Given the description of an element on the screen output the (x, y) to click on. 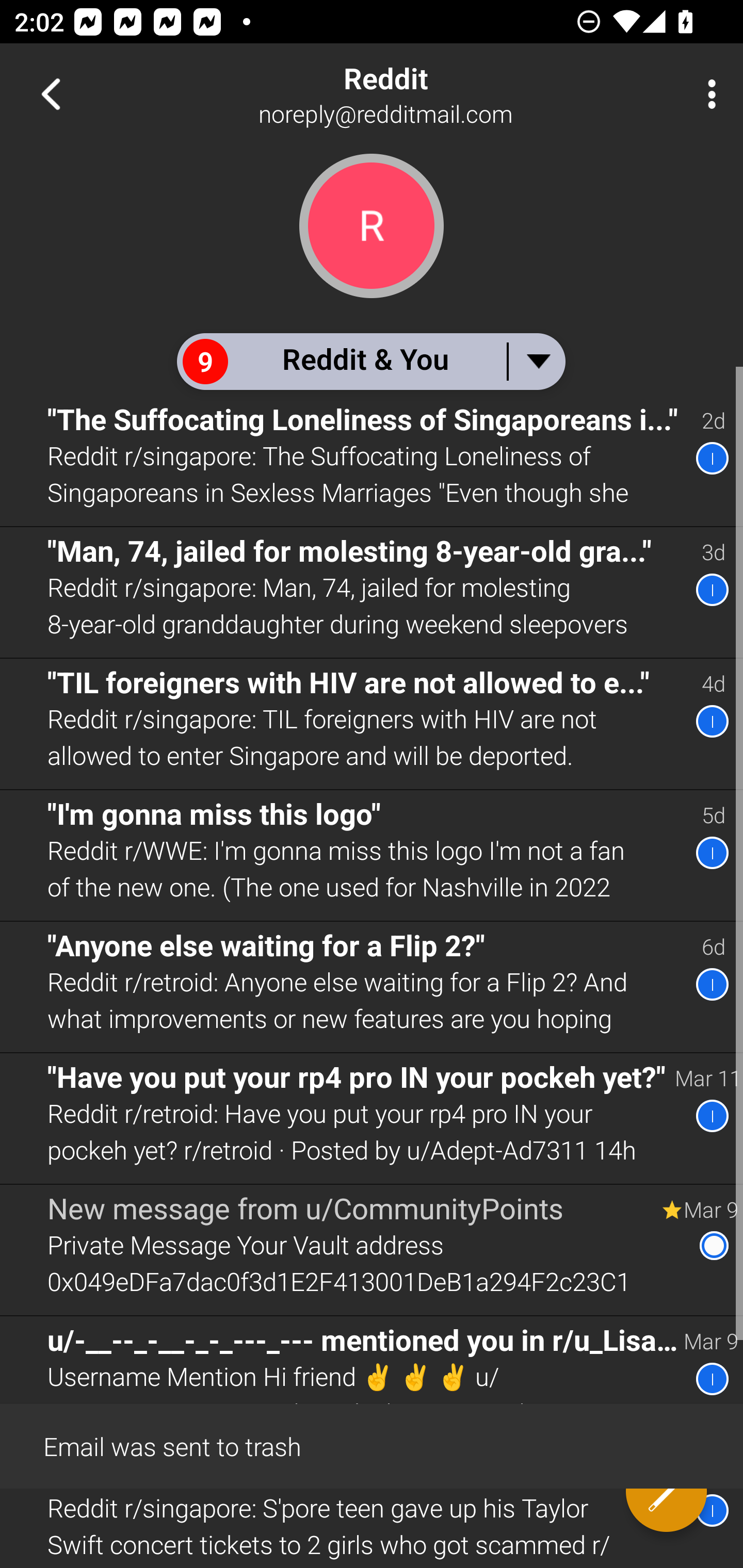
Navigate up (50, 93)
Reddit noreply@redditmail.com (436, 93)
More Options (706, 93)
9 Reddit & You (370, 361)
Email was sent to trash (371, 1445)
